Given the description of an element on the screen output the (x, y) to click on. 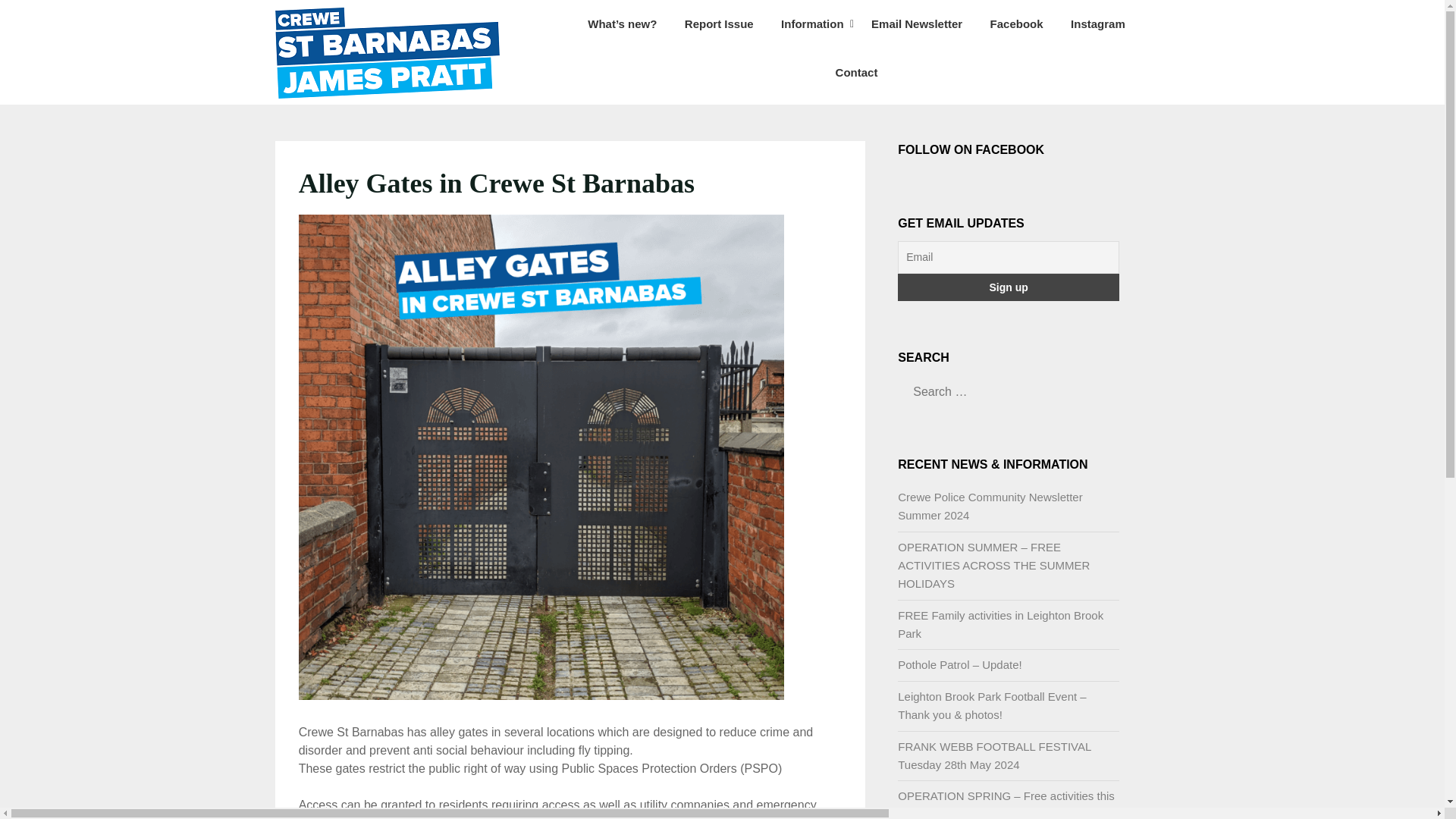
Email Newsletter (916, 24)
Sign up (1008, 287)
Sign up (1008, 287)
FREE Family activities in Leighton Brook Park (1000, 624)
Contact (856, 72)
Search (38, 22)
Instagram (1097, 24)
FRANK WEBB FOOTBALL FESTIVAL Tuesday 28th May 2024 (994, 755)
Crewe Police Community Newsletter Summer 2024 (989, 505)
Report Issue (718, 24)
